Given the description of an element on the screen output the (x, y) to click on. 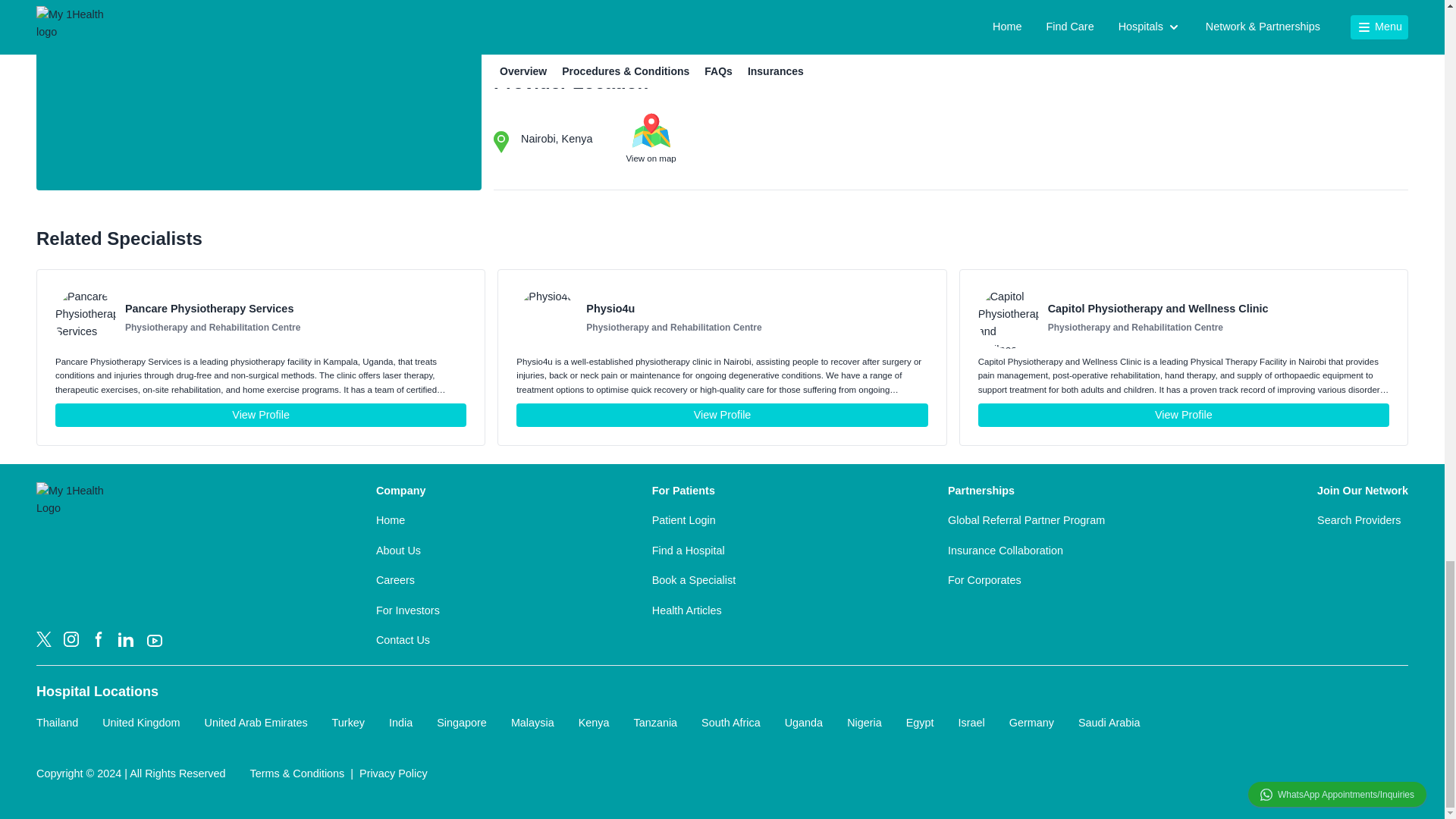
My 1Health on YouTube (154, 639)
